Given the description of an element on the screen output the (x, y) to click on. 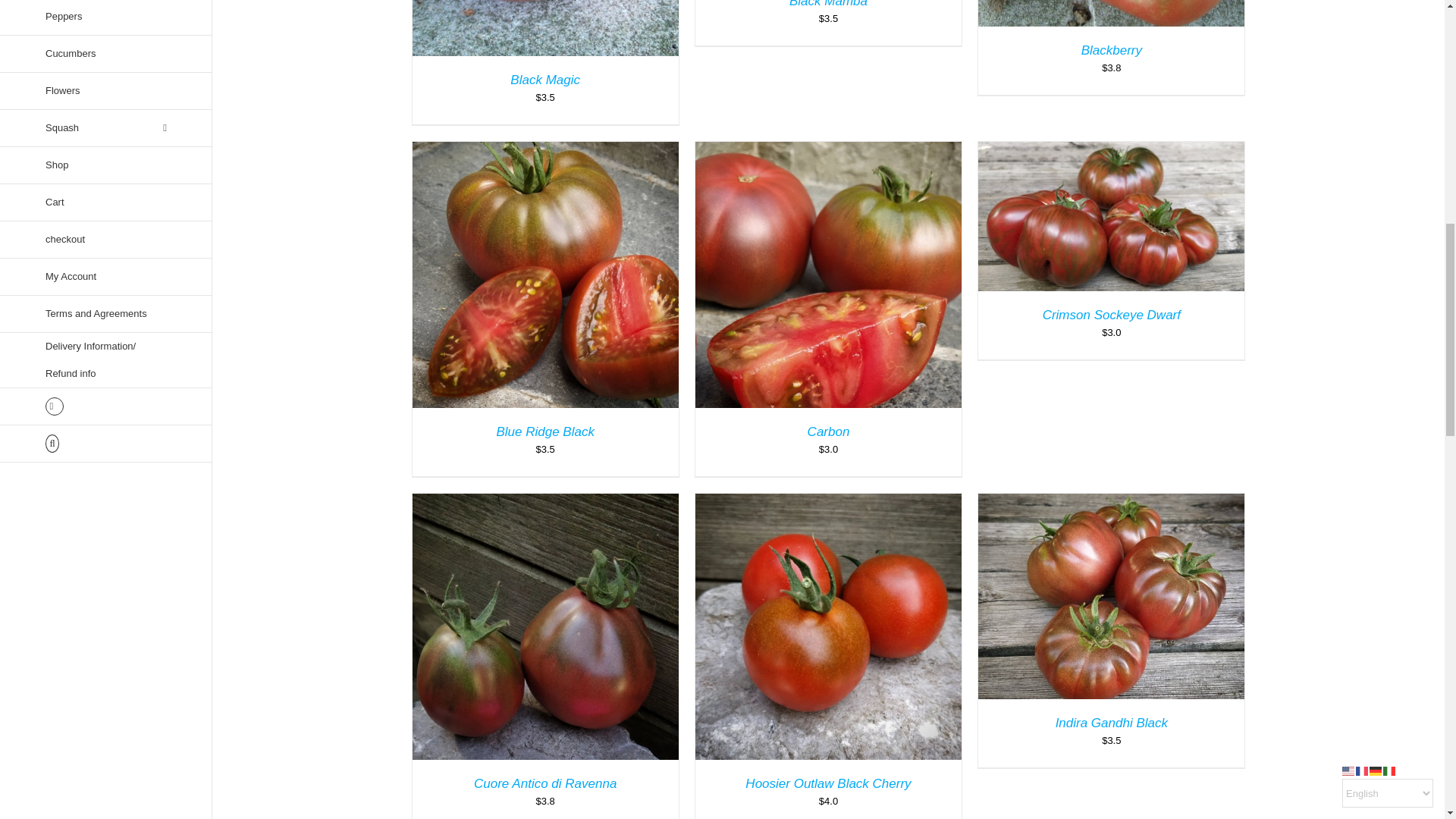
Shop (106, 165)
Terms and Agreements (106, 313)
Squash (106, 128)
Cucumbers (106, 54)
Flowers (106, 90)
Cart (106, 202)
Search (106, 443)
Peppers (106, 18)
checkout (106, 239)
My Account (106, 276)
